Given the description of an element on the screen output the (x, y) to click on. 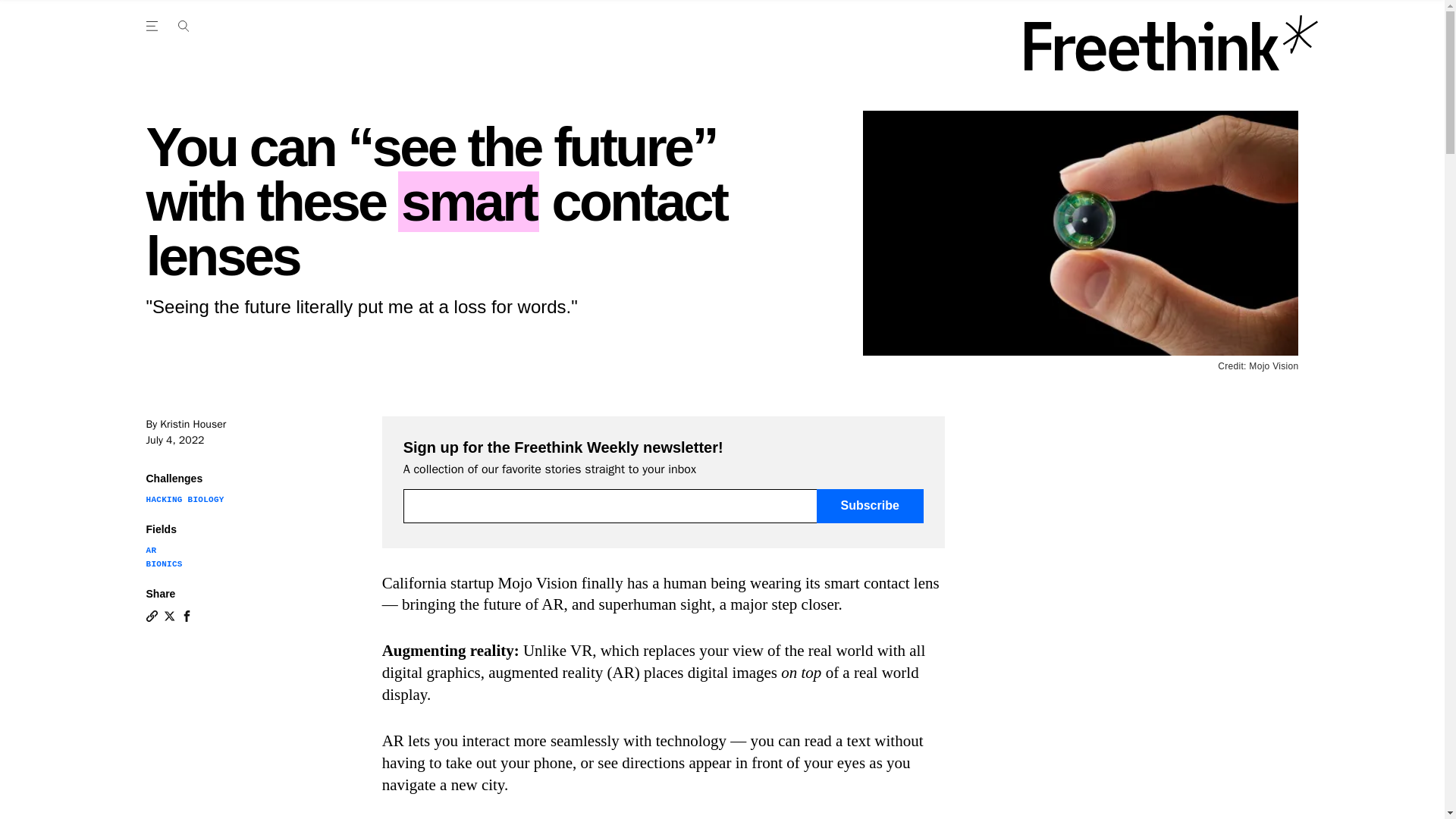
Open the Main Navigation Menu (153, 26)
HACKING BIOLOGY (184, 499)
Kristin Houser (192, 423)
AR (150, 550)
Open the Main Navigation Menu (182, 26)
